Given the description of an element on the screen output the (x, y) to click on. 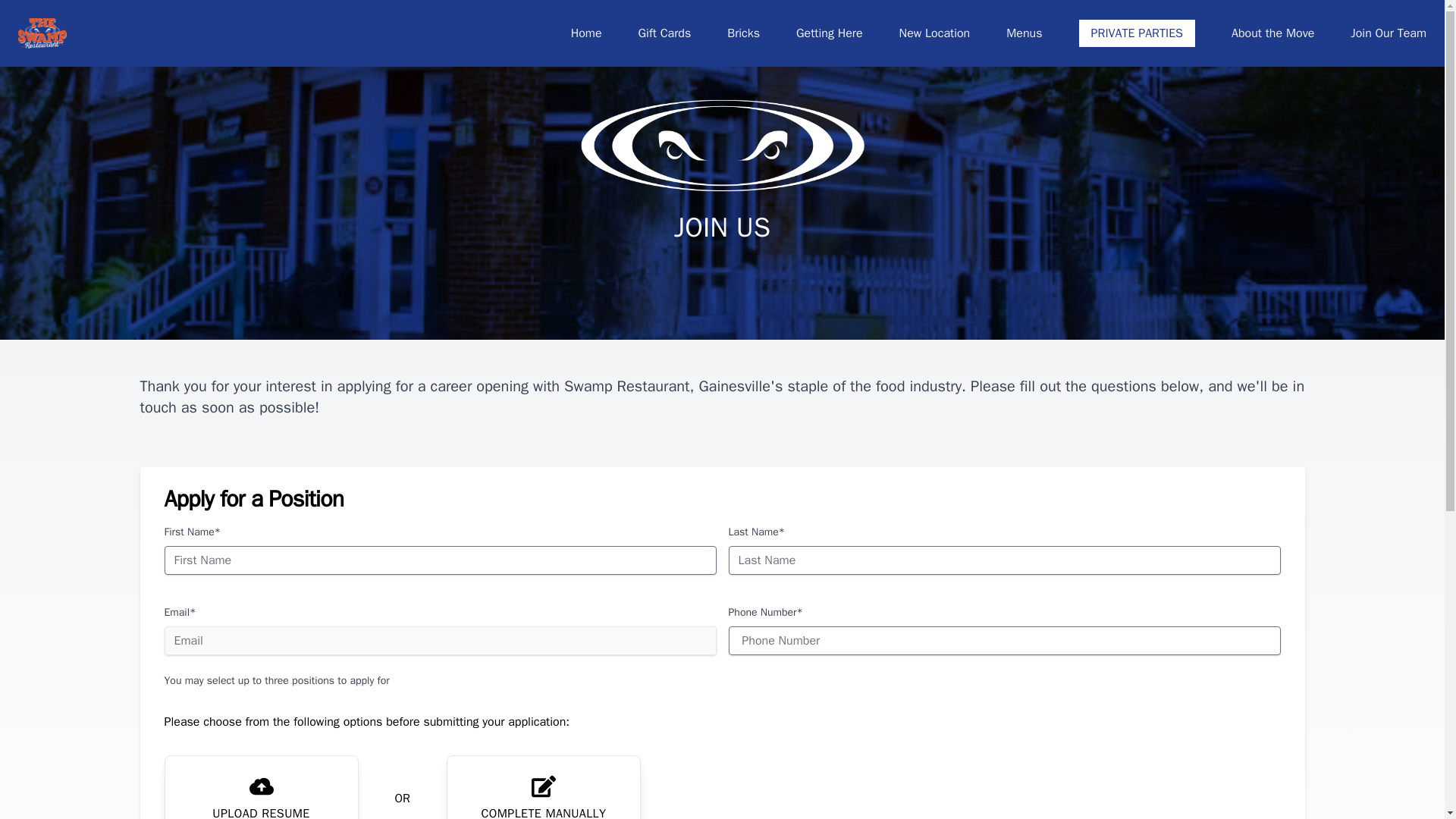
Join Our Team (1388, 33)
Getting Here (829, 33)
PRIVATE PARTIES (1136, 33)
About the Move (1272, 33)
Bricks (743, 33)
Menus (1024, 33)
Home (586, 33)
New Location (935, 33)
Gift Cards (665, 33)
The Swamp Restaurant (41, 33)
